Given the description of an element on the screen output the (x, y) to click on. 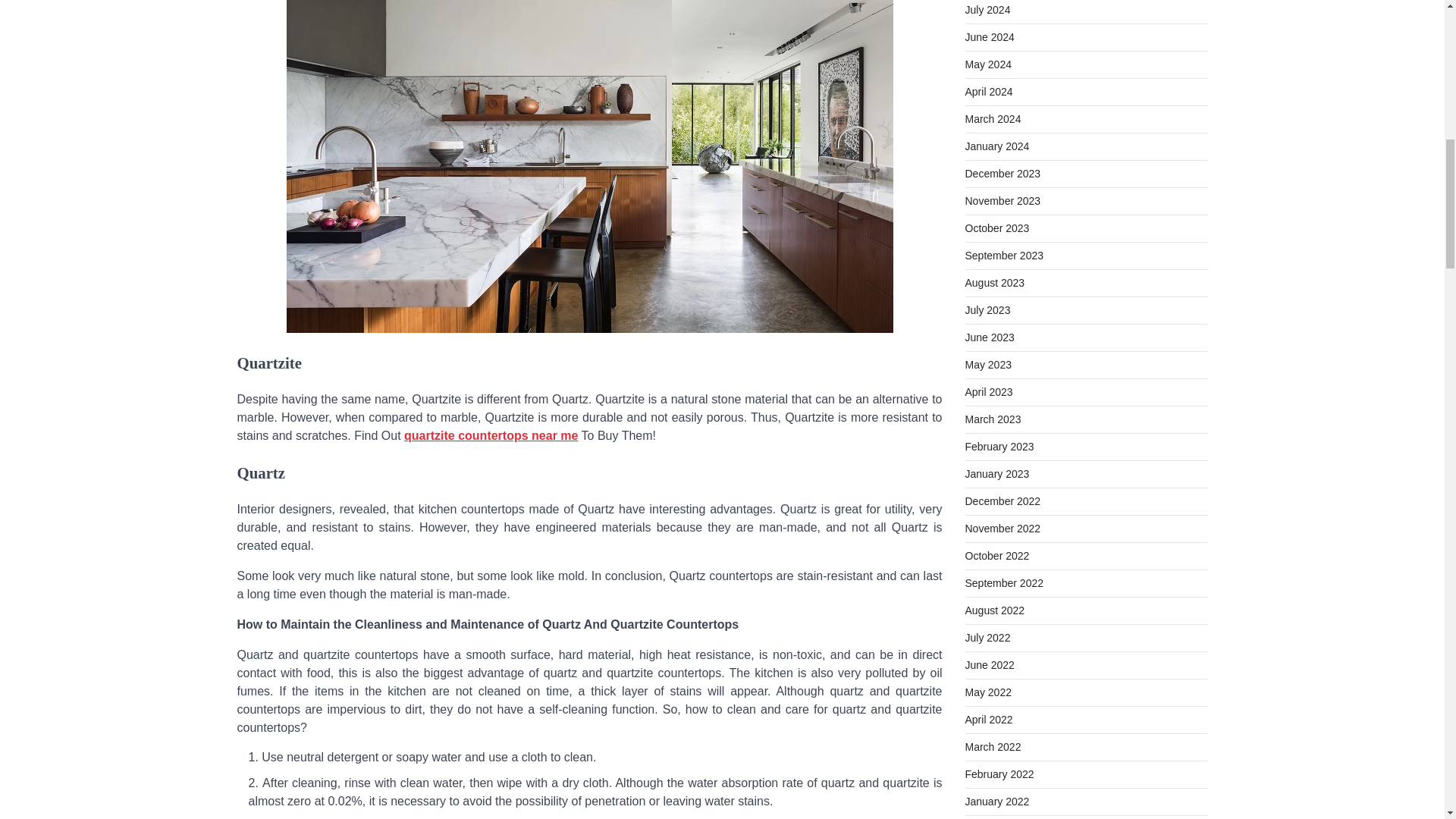
December 2023 (1002, 173)
October 2023 (996, 227)
November 2023 (1002, 200)
January 2024 (996, 146)
July 2024 (986, 9)
May 2024 (986, 64)
June 2024 (988, 37)
March 2024 (991, 119)
April 2024 (987, 91)
quartzite countertops near me (491, 435)
